Given the description of an element on the screen output the (x, y) to click on. 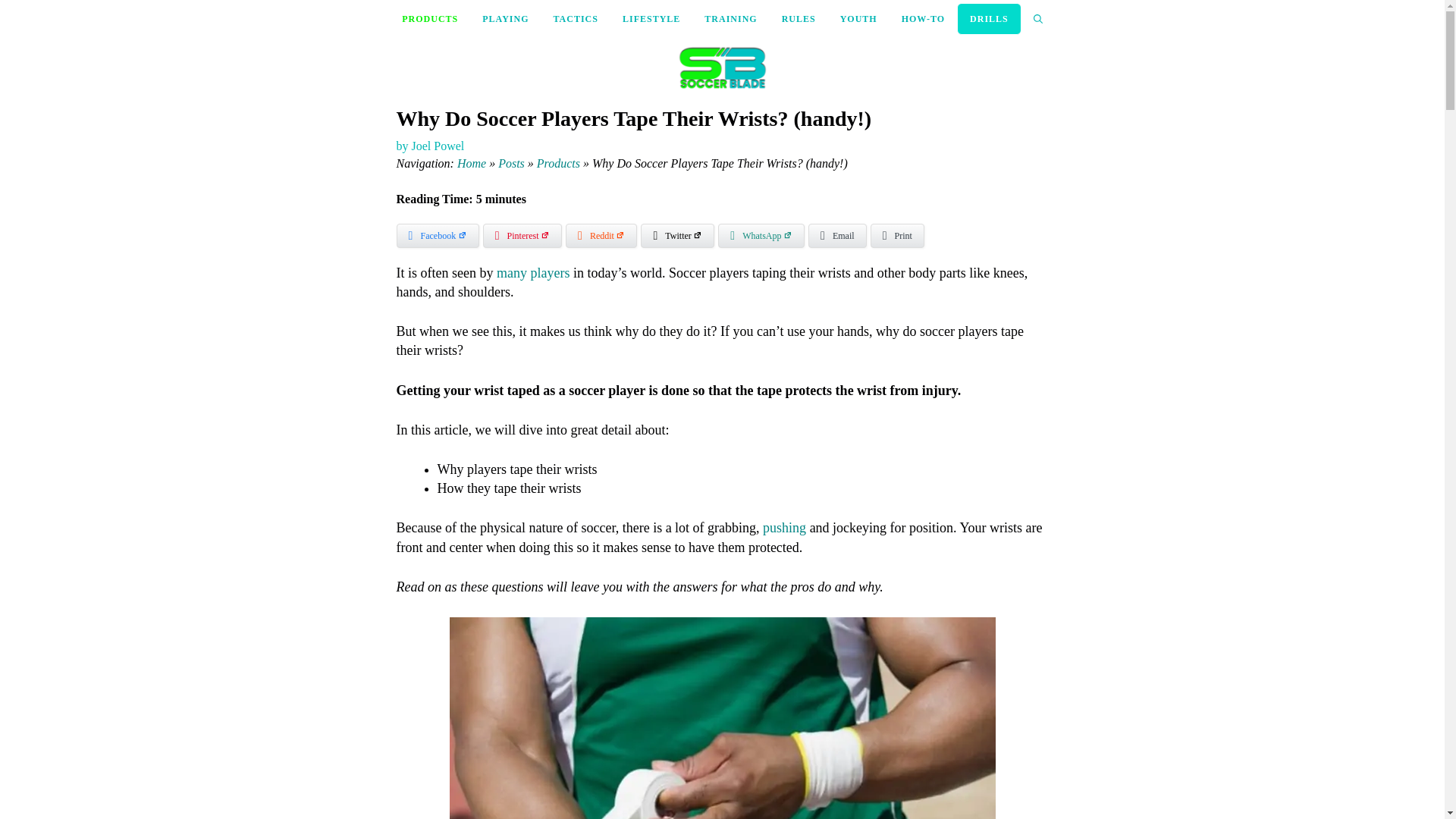
Share this article on WhatsApp (761, 235)
View all posts by Joel Powel (437, 145)
HOW-TO (922, 18)
Reddit (601, 235)
TACTICS (575, 18)
Pinterest (522, 235)
DRILLS (989, 19)
many players (532, 272)
TRAINING (730, 18)
Twitter (677, 235)
